Given the description of an element on the screen output the (x, y) to click on. 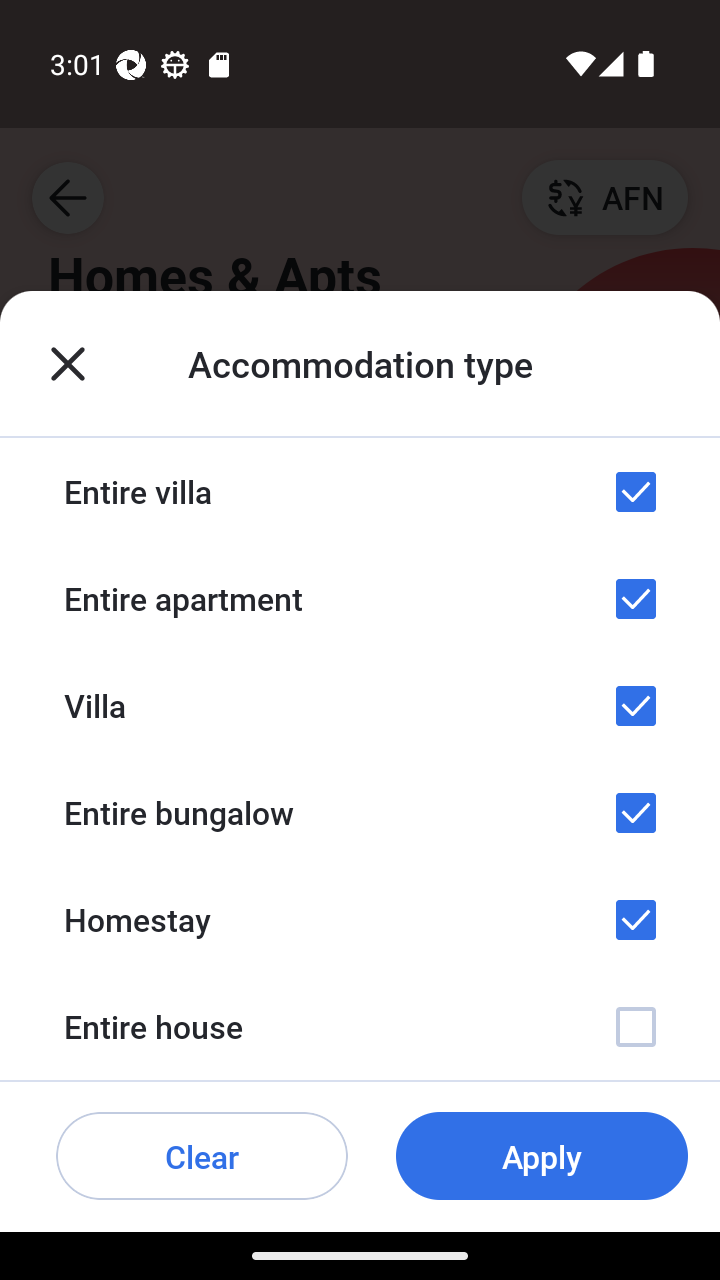
Entire villa (359, 492)
Entire apartment (359, 598)
Villa (359, 705)
Entire bungalow (359, 813)
Homestay (359, 919)
Entire house (359, 1027)
Clear (201, 1156)
Apply (542, 1156)
